Given the description of an element on the screen output the (x, y) to click on. 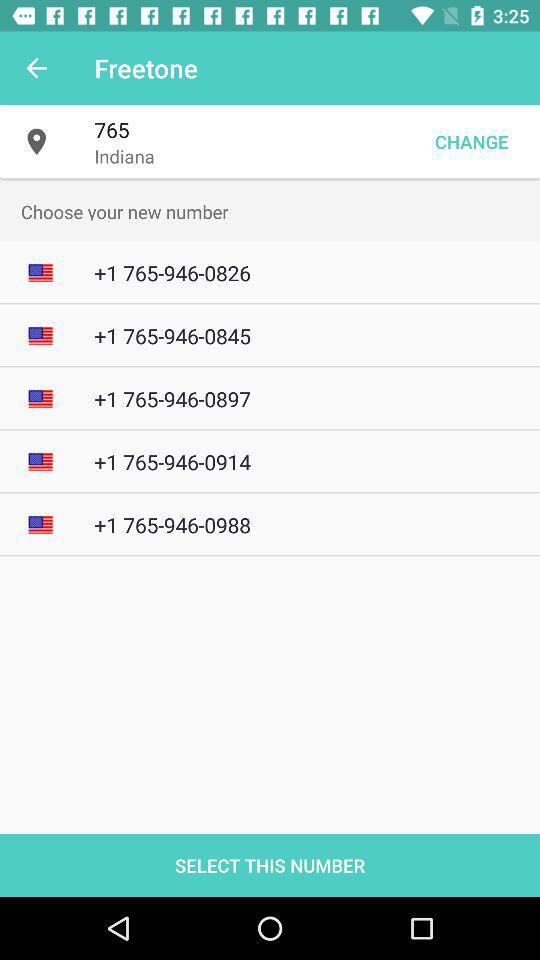
open select this number icon (270, 864)
